Given the description of an element on the screen output the (x, y) to click on. 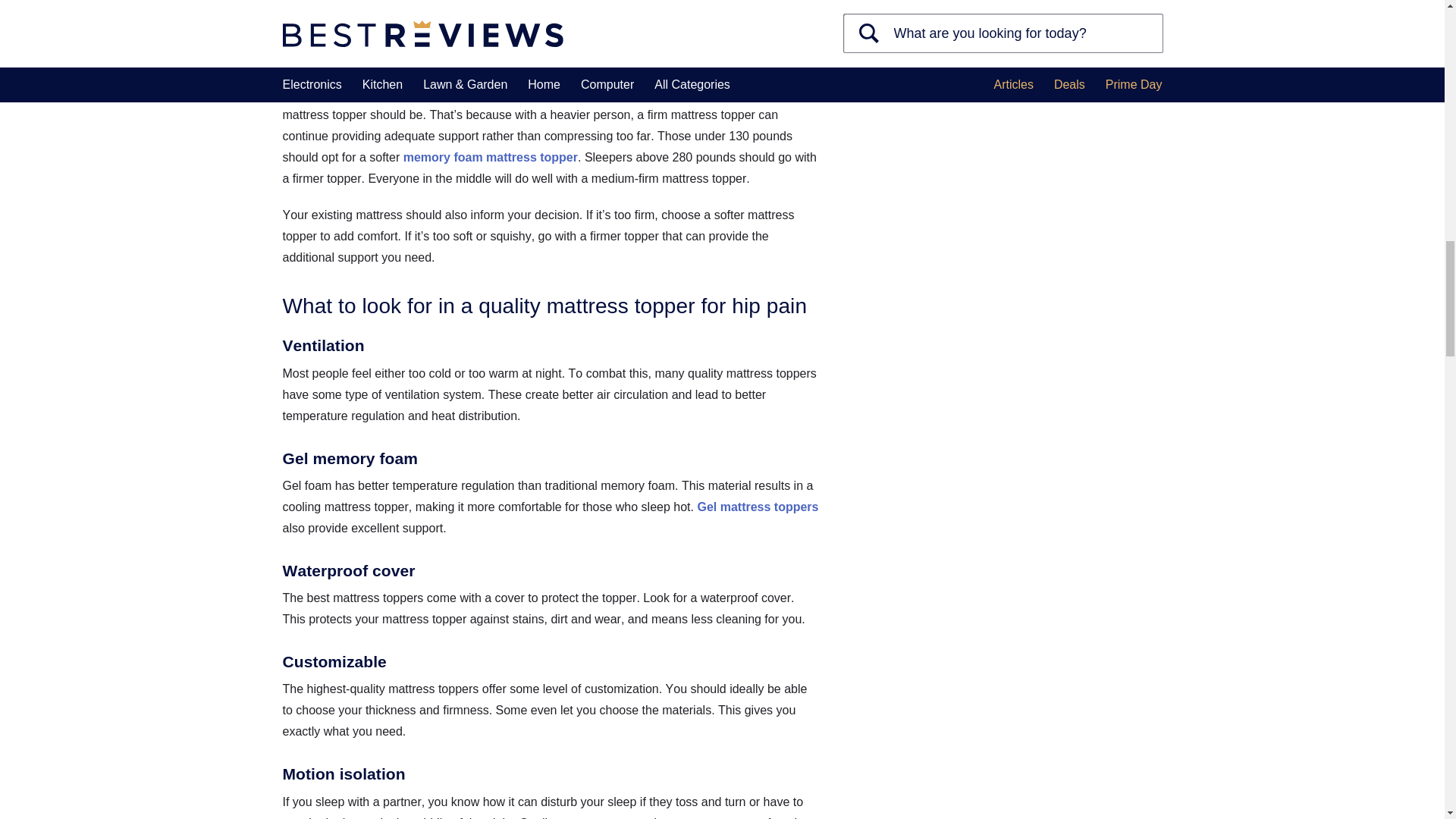
Gel mattress toppers (757, 506)
memory foam mattress topper (490, 156)
